Given the description of an element on the screen output the (x, y) to click on. 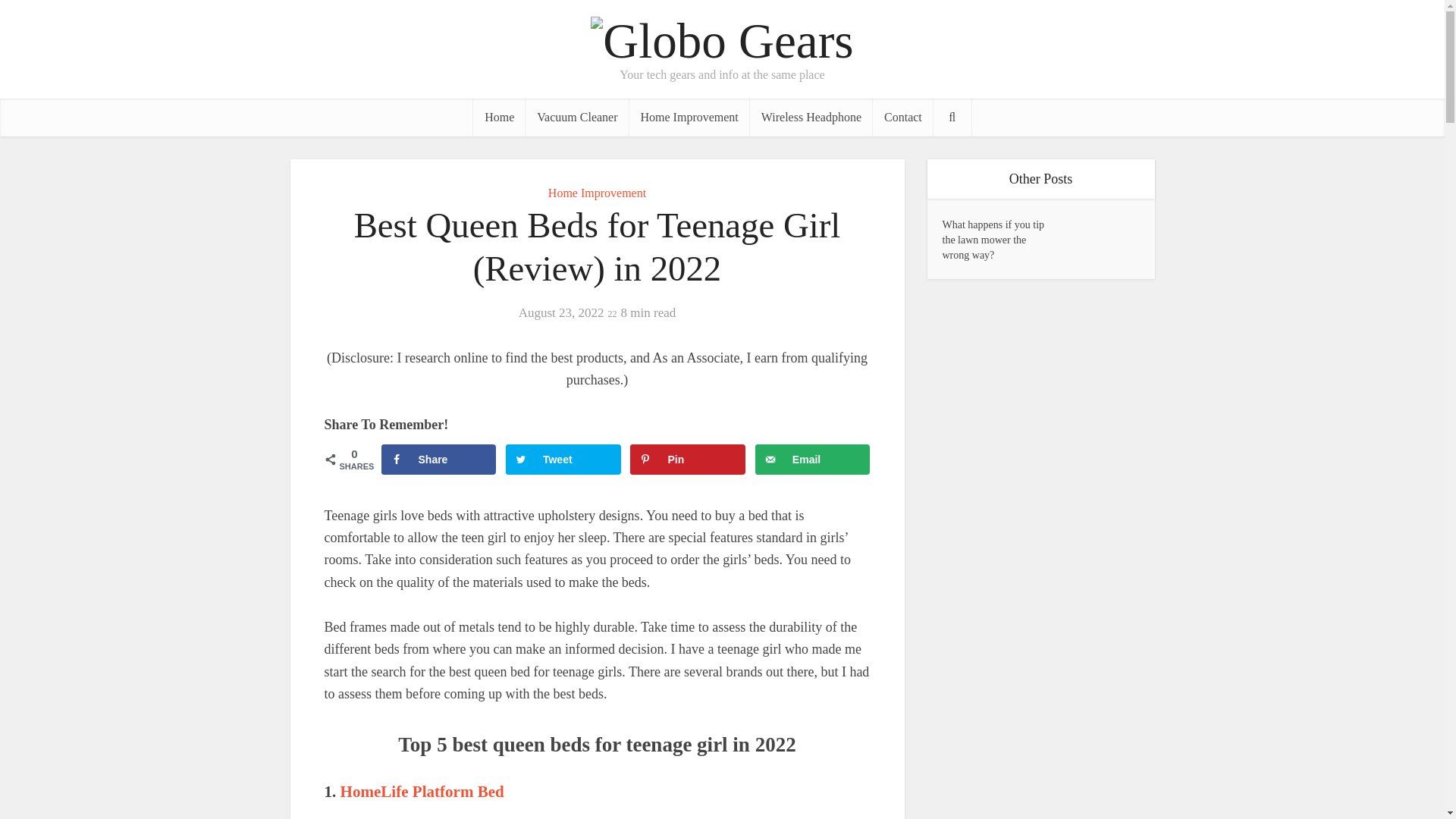
Home Improvement (597, 192)
Share (438, 459)
Home Improvement (688, 117)
Save to Pinterest (687, 459)
Share on Twitter (563, 459)
Vacuum Cleaner (576, 117)
Email (812, 459)
Send over email (812, 459)
Wireless Headphone (810, 117)
Pin (687, 459)
